Given the description of an element on the screen output the (x, y) to click on. 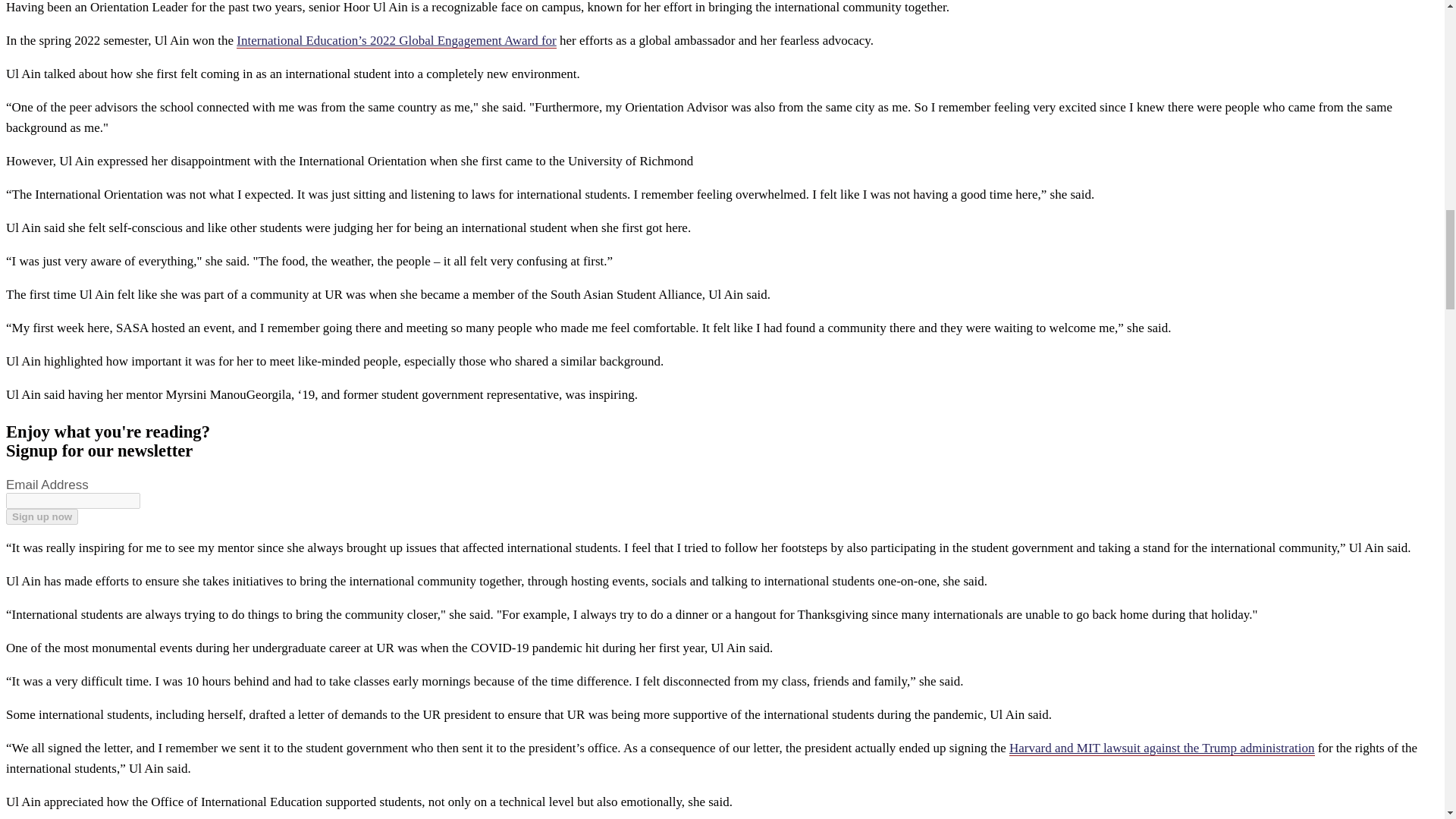
Sign up now (41, 516)
